Given the description of an element on the screen output the (x, y) to click on. 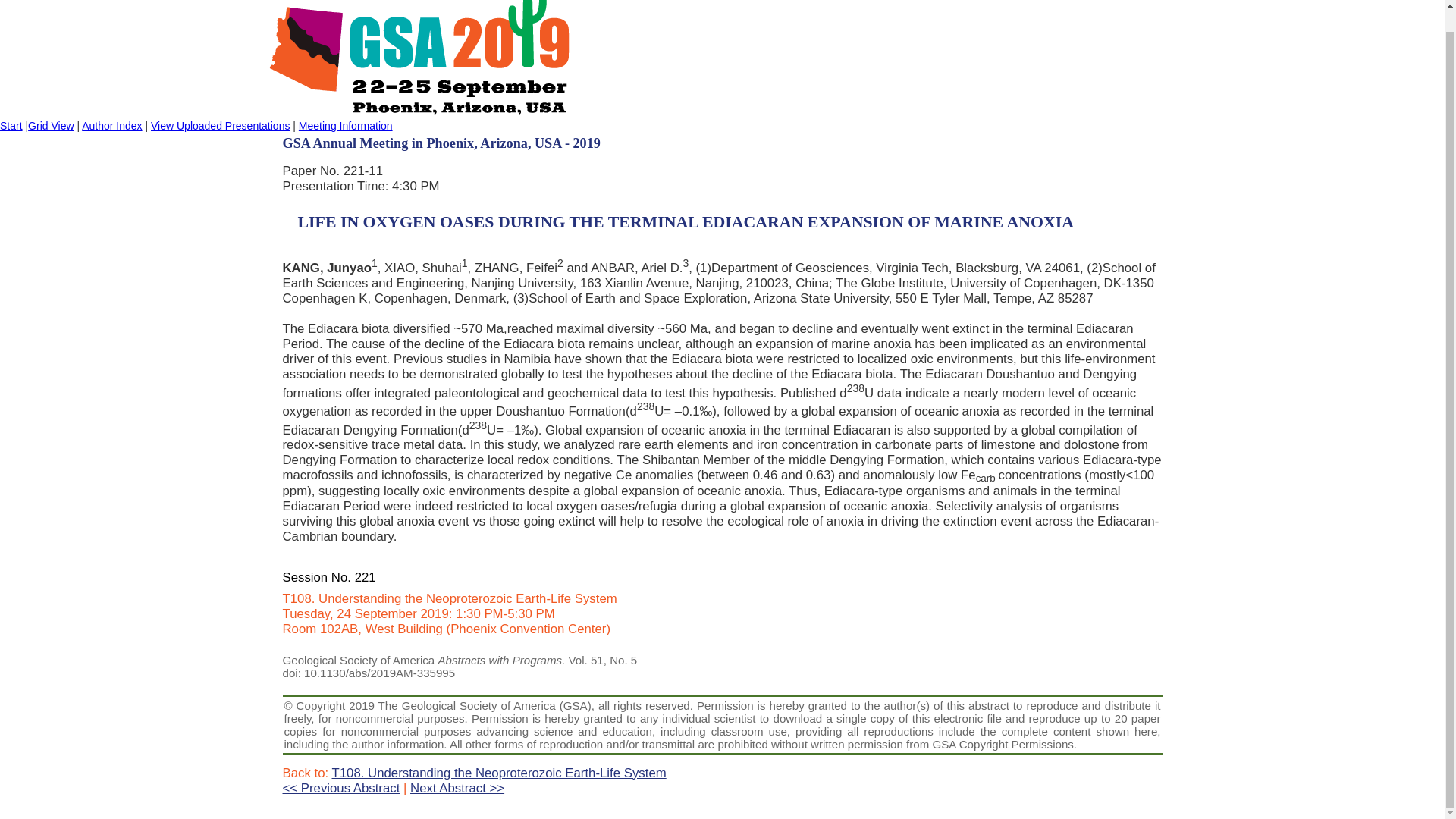
Start (11, 125)
View Uploaded Presentations (220, 125)
T108. Understanding the Neoproterozoic Earth-Life System (498, 772)
Grid View (50, 125)
Author Index (111, 125)
T108. Understanding the Neoproterozoic Earth-Life System (448, 598)
Meeting Information (345, 125)
